Given the description of an element on the screen output the (x, y) to click on. 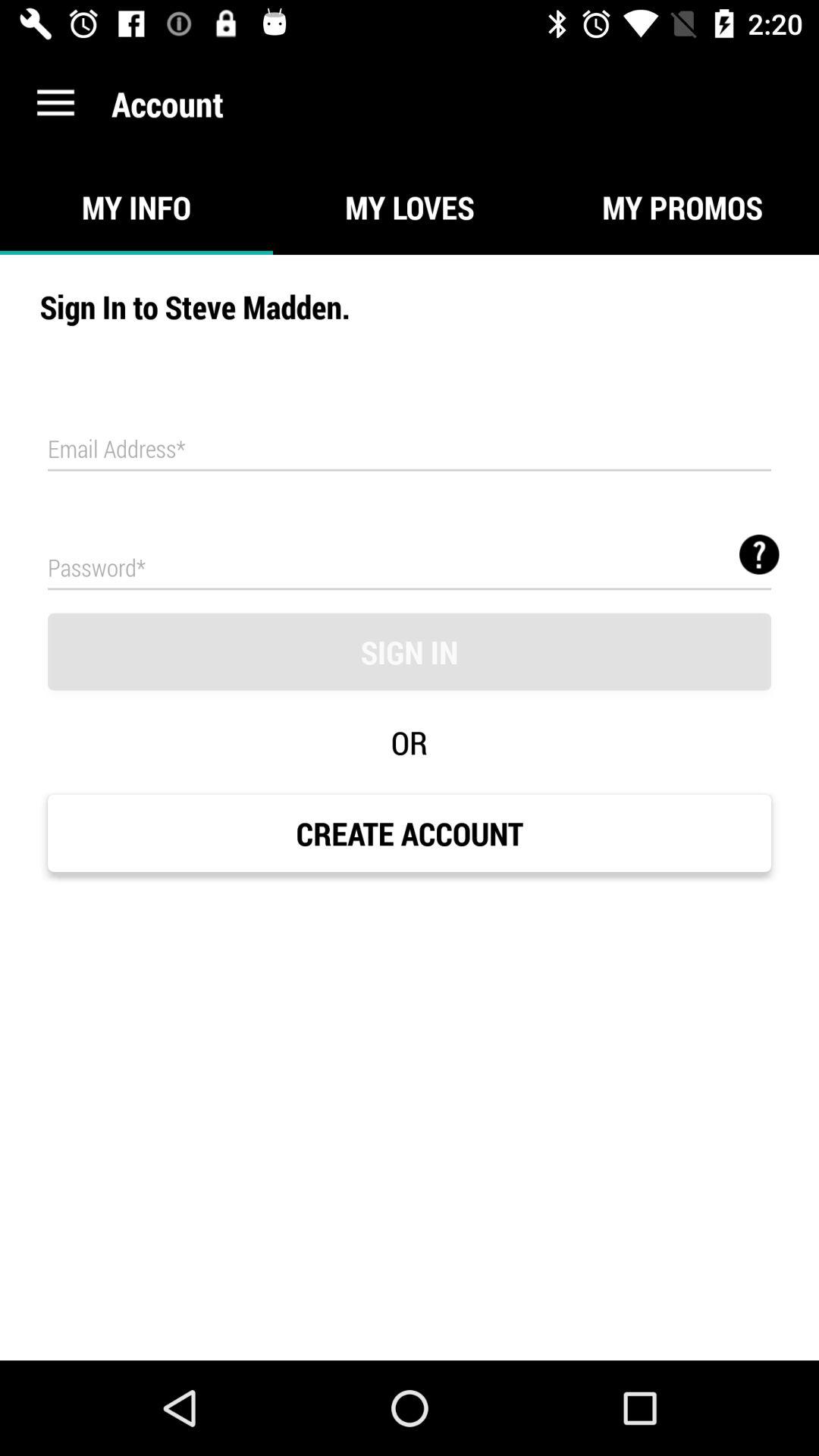
launch the item to the left of the account (55, 103)
